Given the description of an element on the screen output the (x, y) to click on. 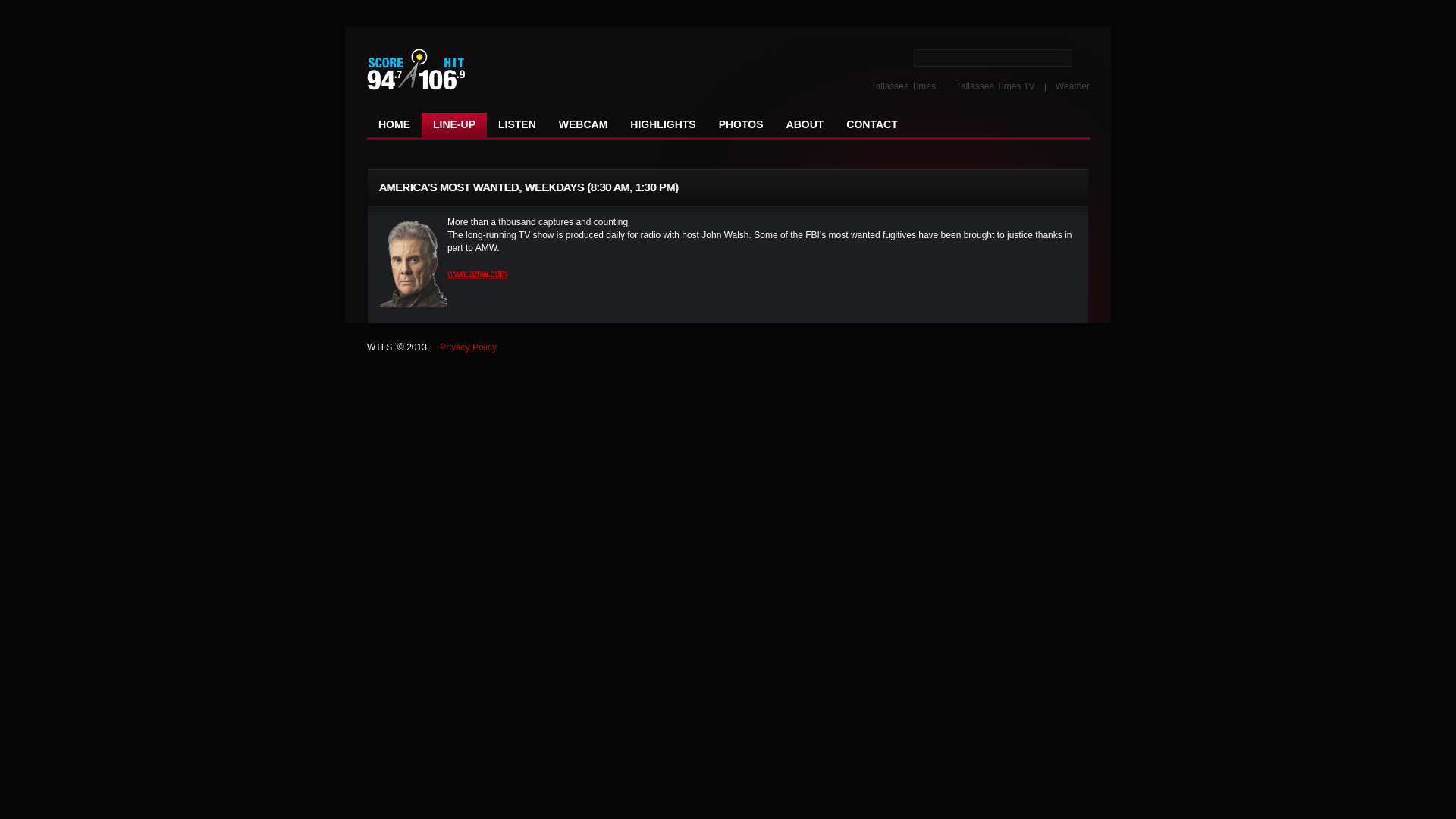
Privacy Policy Element type: text (467, 347)
HOME Element type: text (394, 124)
CONTACT Element type: text (871, 124)
LINE-UP Element type: text (453, 124)
Tallassee Times TV Element type: text (995, 86)
www.amw.com Element type: text (477, 273)
Weather Element type: text (1072, 86)
HIGHLIGHTS Element type: text (662, 124)
LISTEN Element type: text (516, 124)
Tallassee Times Element type: text (903, 86)
NFL NEWS The latest news in the world of football Element type: text (458, 69)
PHOTOS Element type: text (741, 124)
ABOUT Element type: text (805, 124)
WEBCAM Element type: text (583, 124)
